Given the description of an element on the screen output the (x, y) to click on. 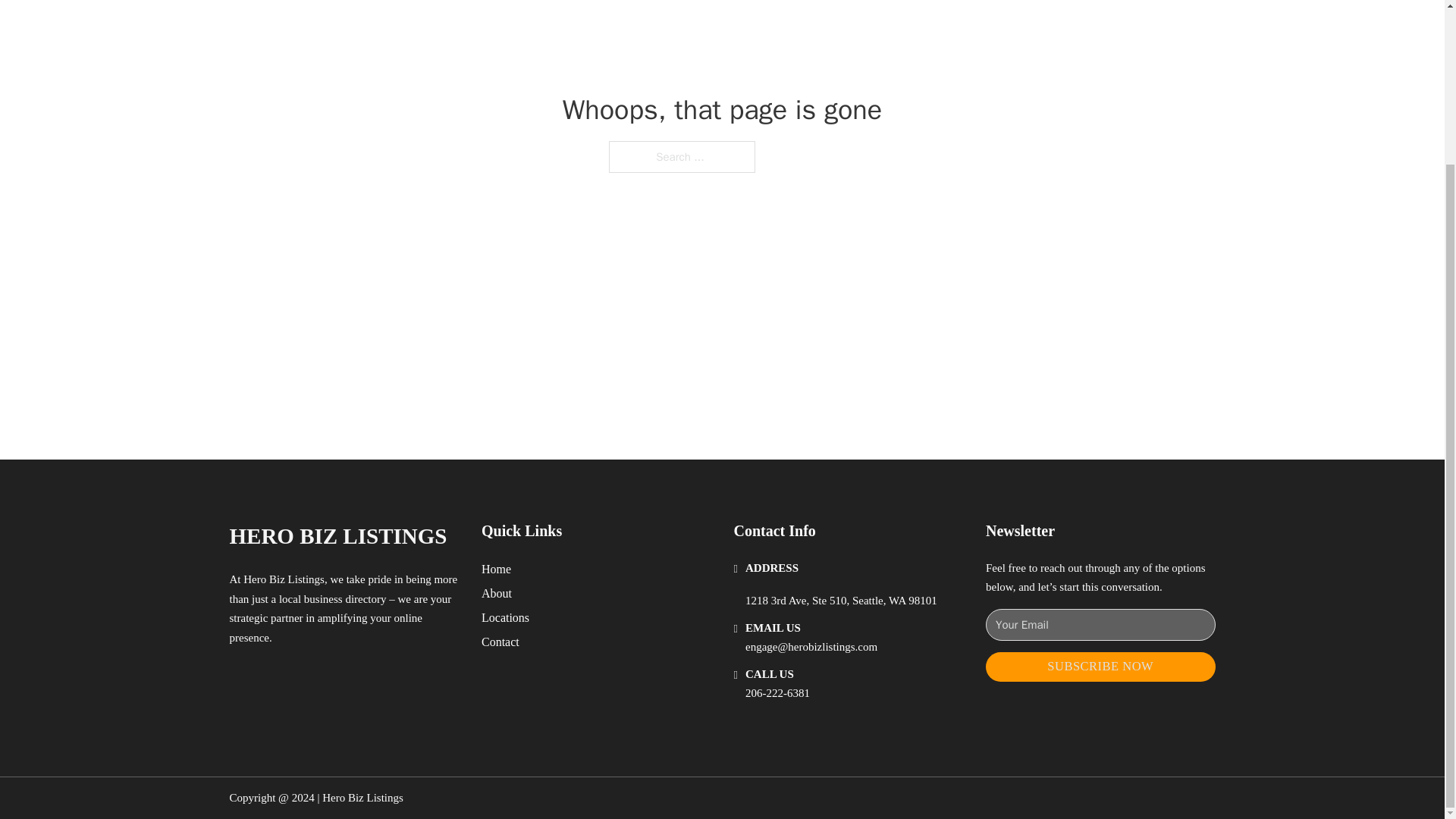
Home (496, 568)
SUBSCRIBE NOW (1100, 666)
Locations (505, 617)
About (496, 593)
Contact (500, 641)
HERO BIZ LISTINGS (337, 536)
206-222-6381 (777, 693)
